Given the description of an element on the screen output the (x, y) to click on. 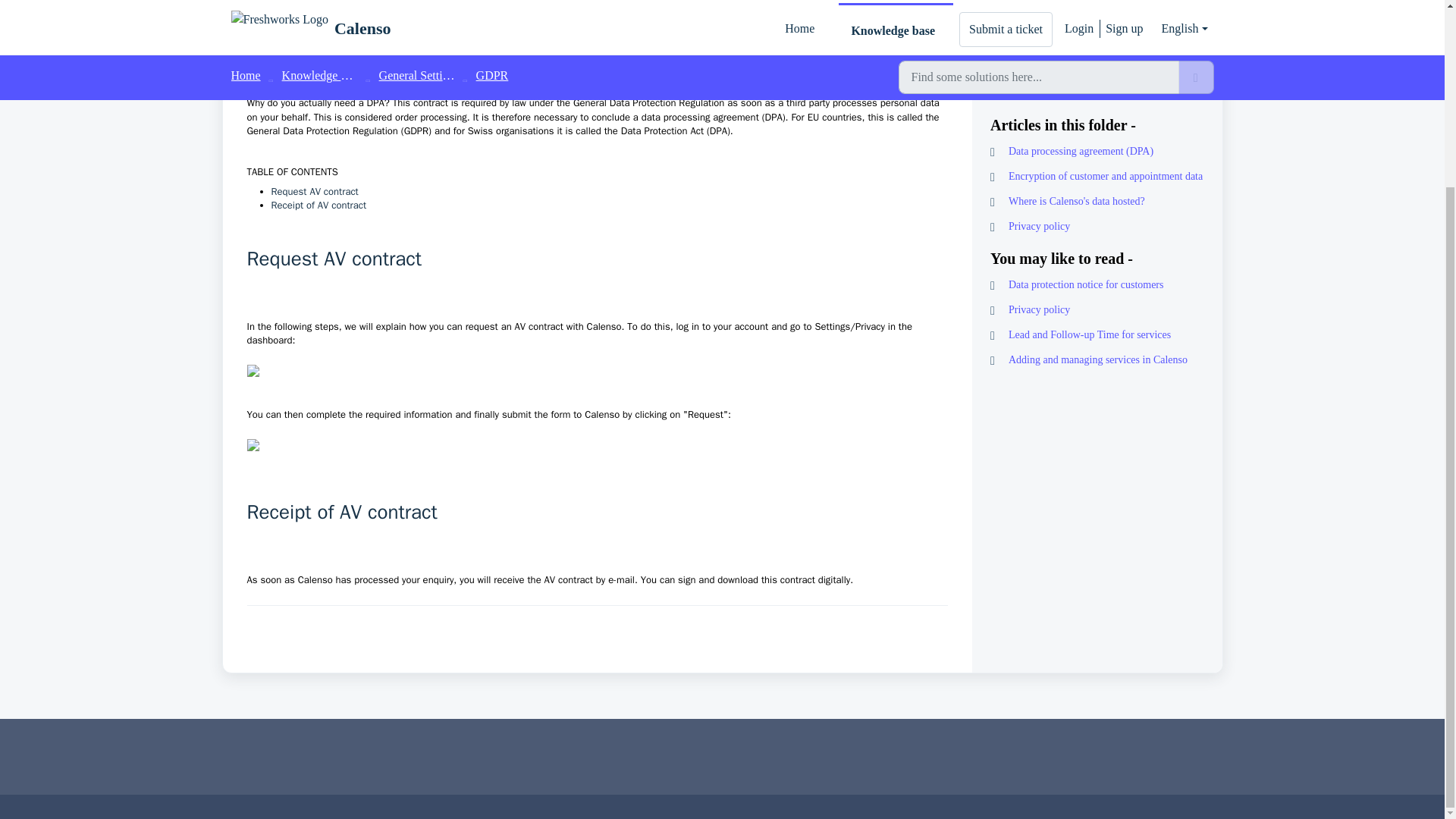
Request AV contract (314, 191)
Data protection notice for customers (1097, 284)
Privacy policy (1097, 226)
Lead and Follow-up Time for services (1097, 334)
Encryption of customer and appointment data (1097, 176)
Receipt of AV contract (318, 205)
Where is Calenso's data hosted? (1097, 201)
Print (1097, 91)
Privacy policy (1097, 309)
